Given the description of an element on the screen output the (x, y) to click on. 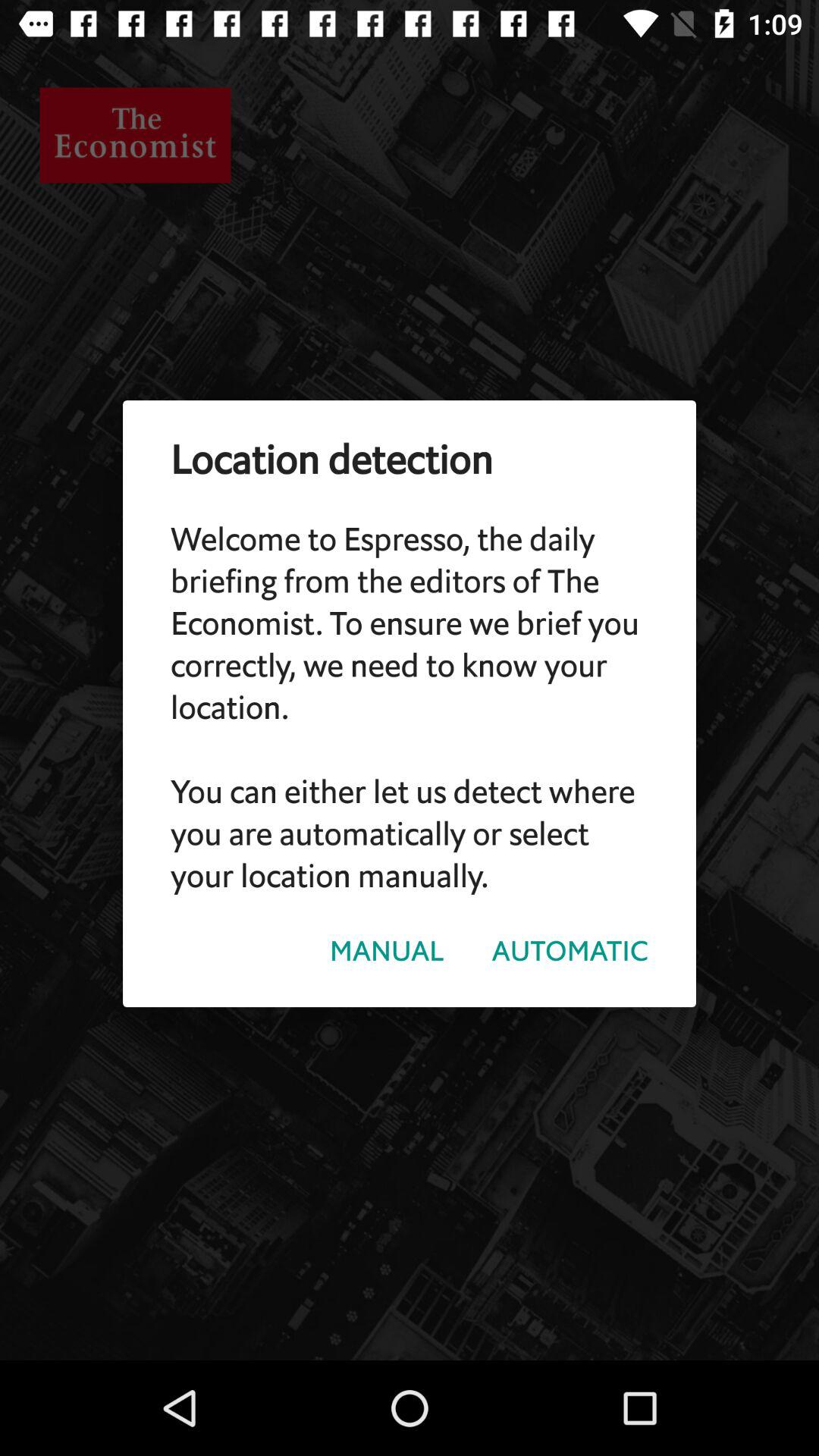
swipe to the manual icon (386, 951)
